Given the description of an element on the screen output the (x, y) to click on. 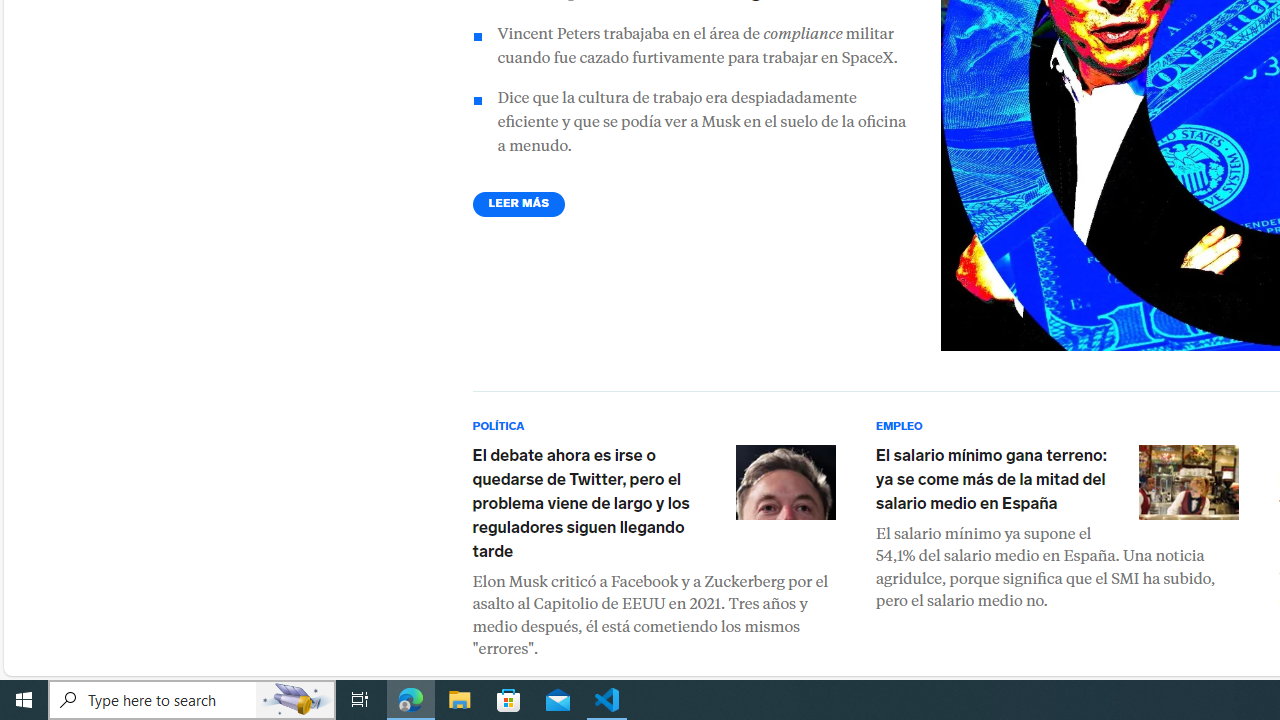
Elon Musk (784, 481)
